Given the description of an element on the screen output the (x, y) to click on. 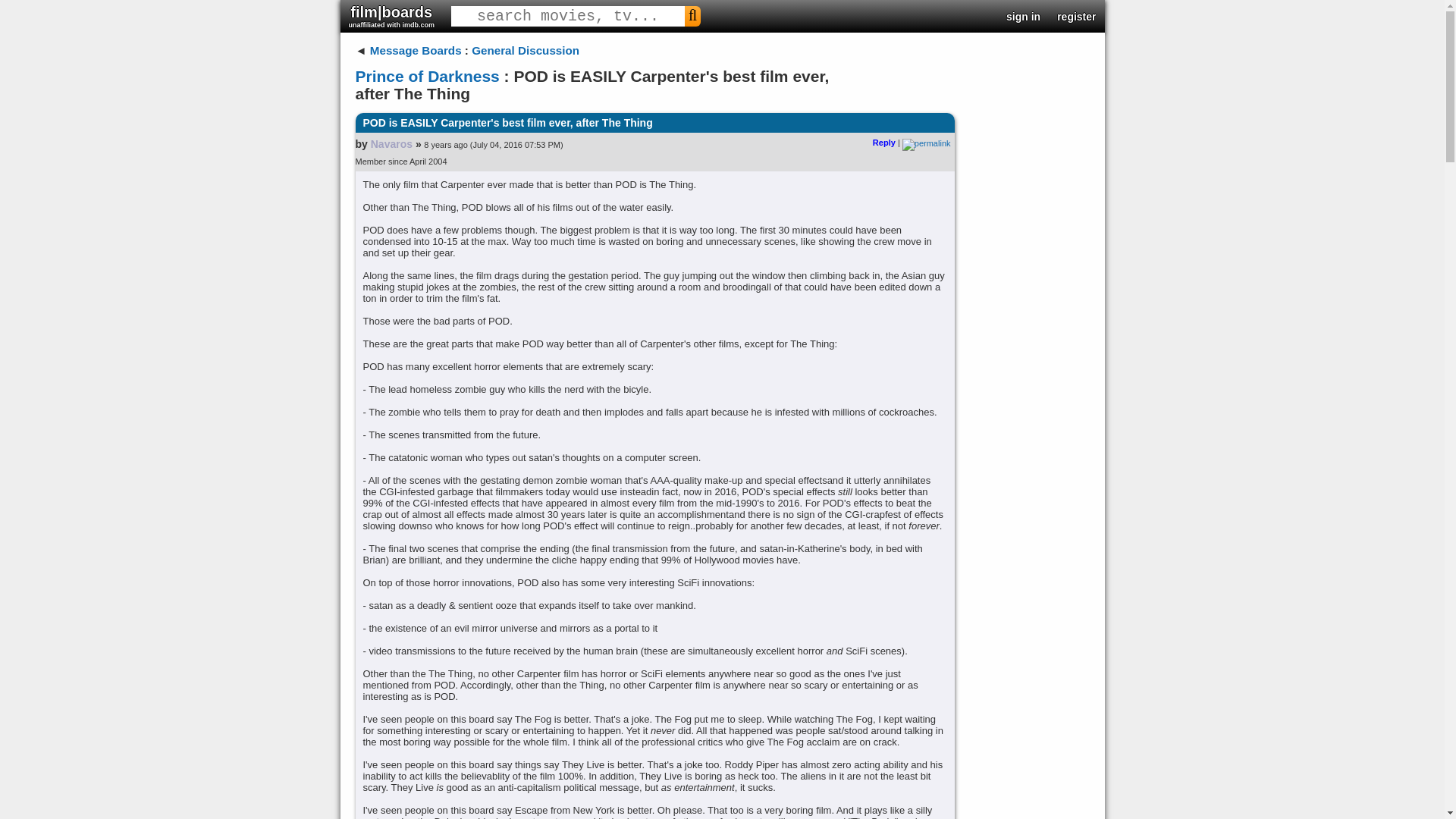
POD is EASILY Carpenter's best film ever, after The Thing (654, 122)
Message Boards (415, 50)
Reply (883, 142)
Prince of Darkness (427, 76)
register (1076, 16)
Navaros (391, 143)
General Discussion (525, 50)
sign in (1023, 16)
